Given the description of an element on the screen output the (x, y) to click on. 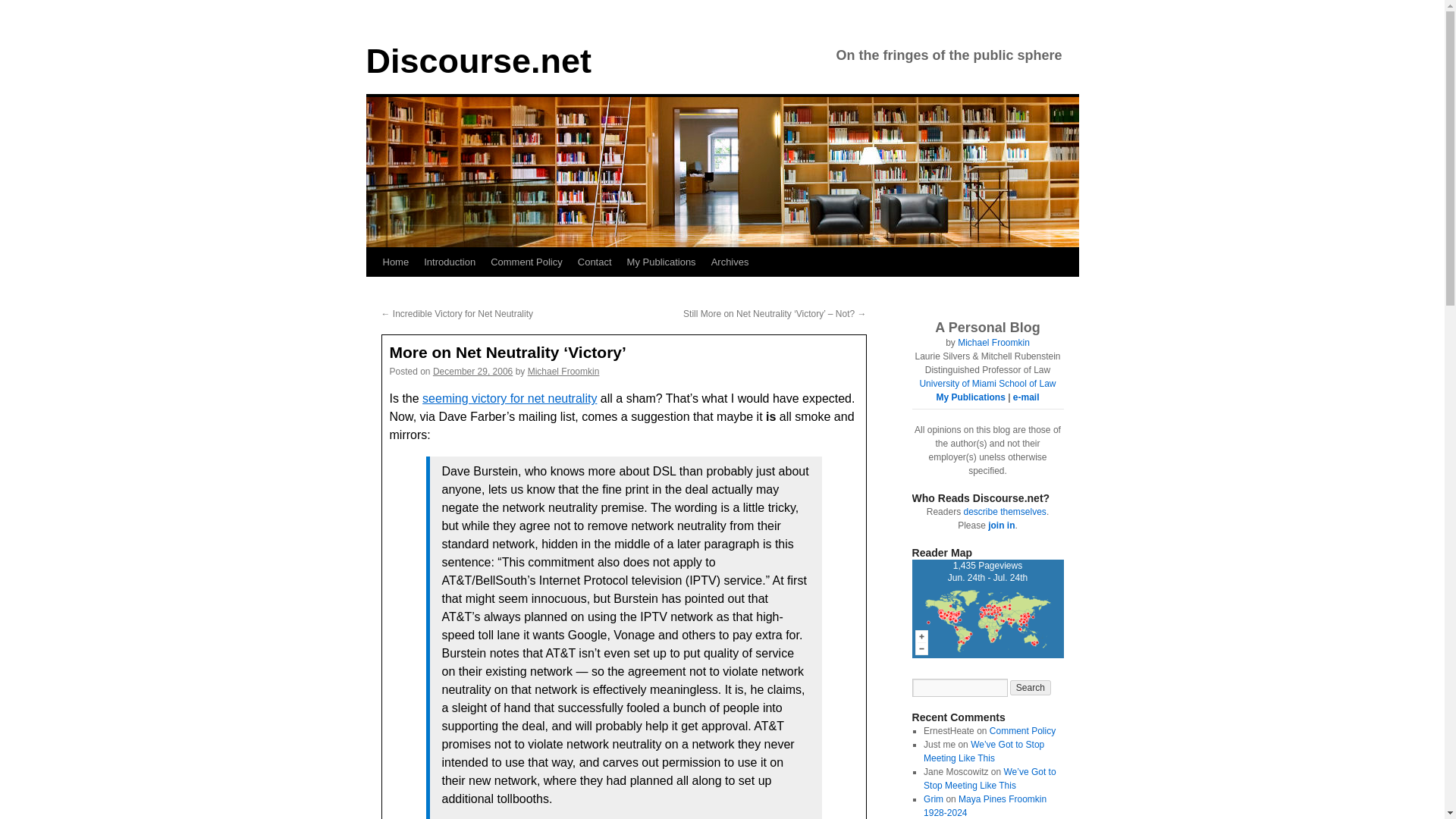
instructions on how to deduce my email (1026, 397)
Comment Policy (526, 262)
Search (1030, 687)
Michael Froomkin (993, 342)
Discourse.net (478, 60)
Contact (595, 262)
join in (1001, 525)
e-mail (986, 612)
Grim (1026, 397)
My Publications (933, 798)
University of Miami School of Law (661, 262)
View all posts by Michael Froomkin (986, 383)
Maya Pines Froomkin 1928-2024 (563, 371)
December 29, 2006 (984, 805)
